Given the description of an element on the screen output the (x, y) to click on. 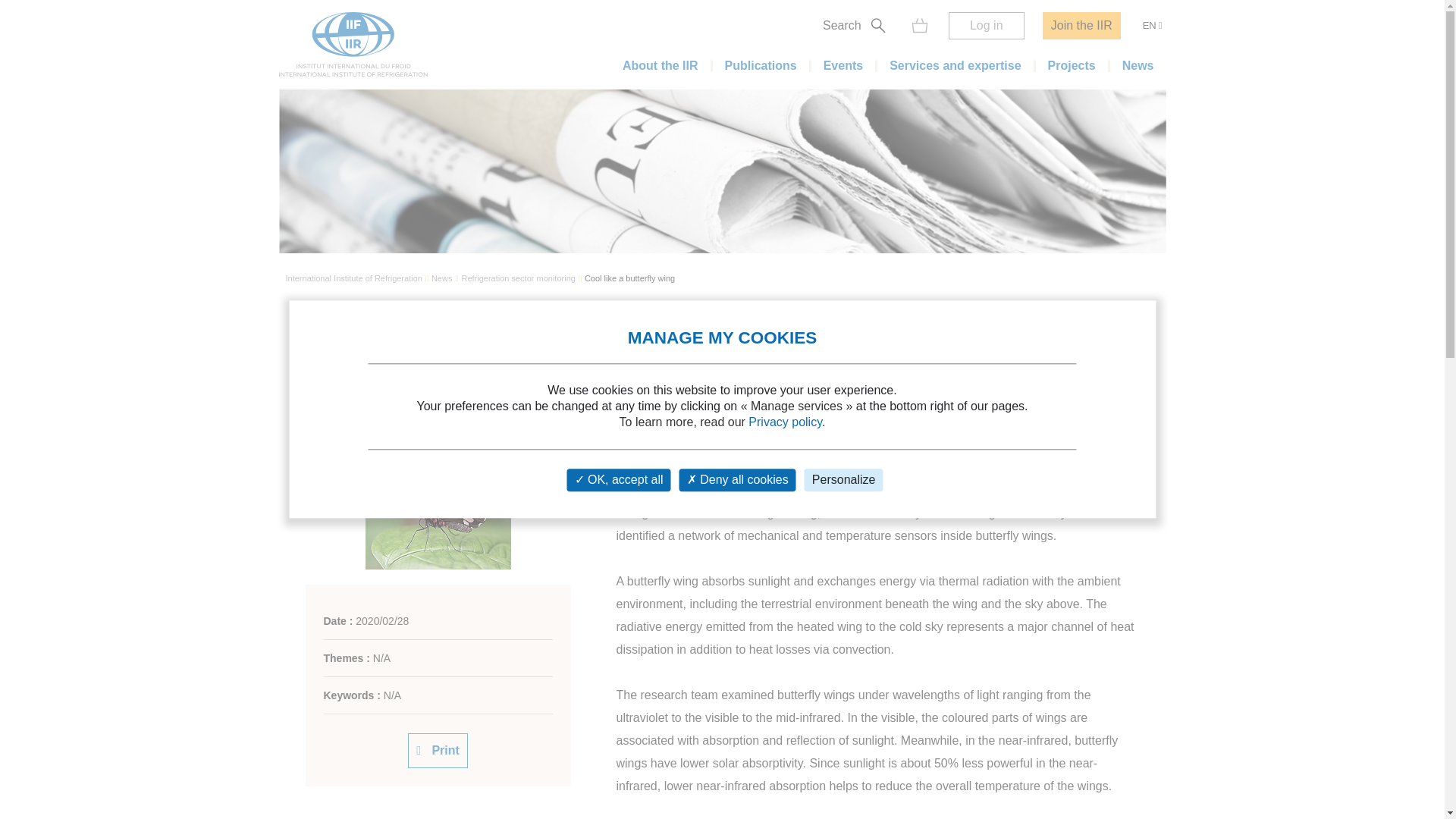
EN (1152, 25)
International Institute of Refrigeration (353, 278)
Search (856, 25)
Search (1091, 44)
Join the IIR (1081, 25)
